Given the description of an element on the screen output the (x, y) to click on. 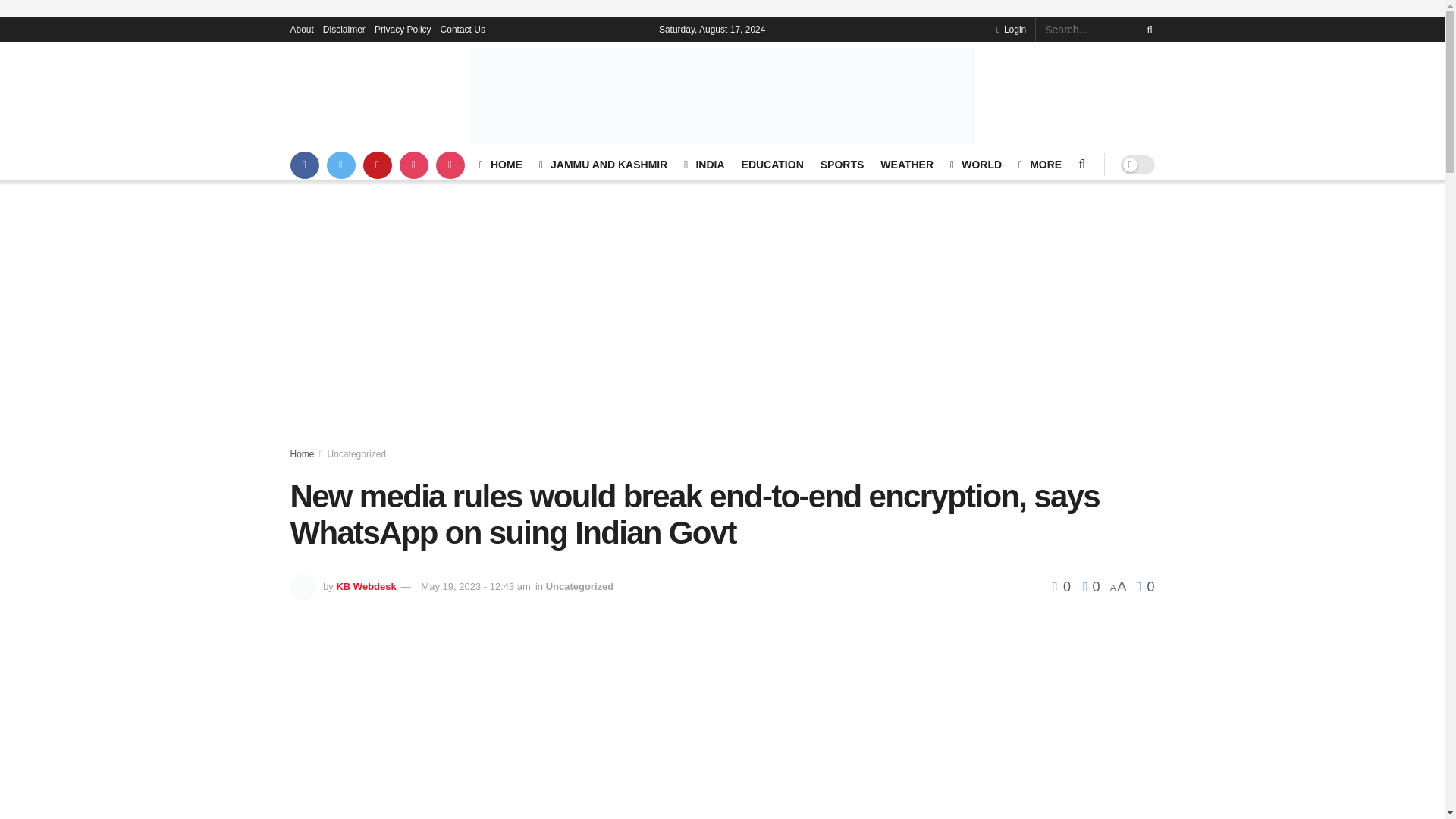
JAMMU AND KASHMIR (602, 164)
Contact Us (462, 29)
Privacy Policy (402, 29)
WORLD (975, 164)
HOME (500, 164)
INDIA (703, 164)
MORE (1039, 164)
EDUCATION (772, 164)
